Given the description of an element on the screen output the (x, y) to click on. 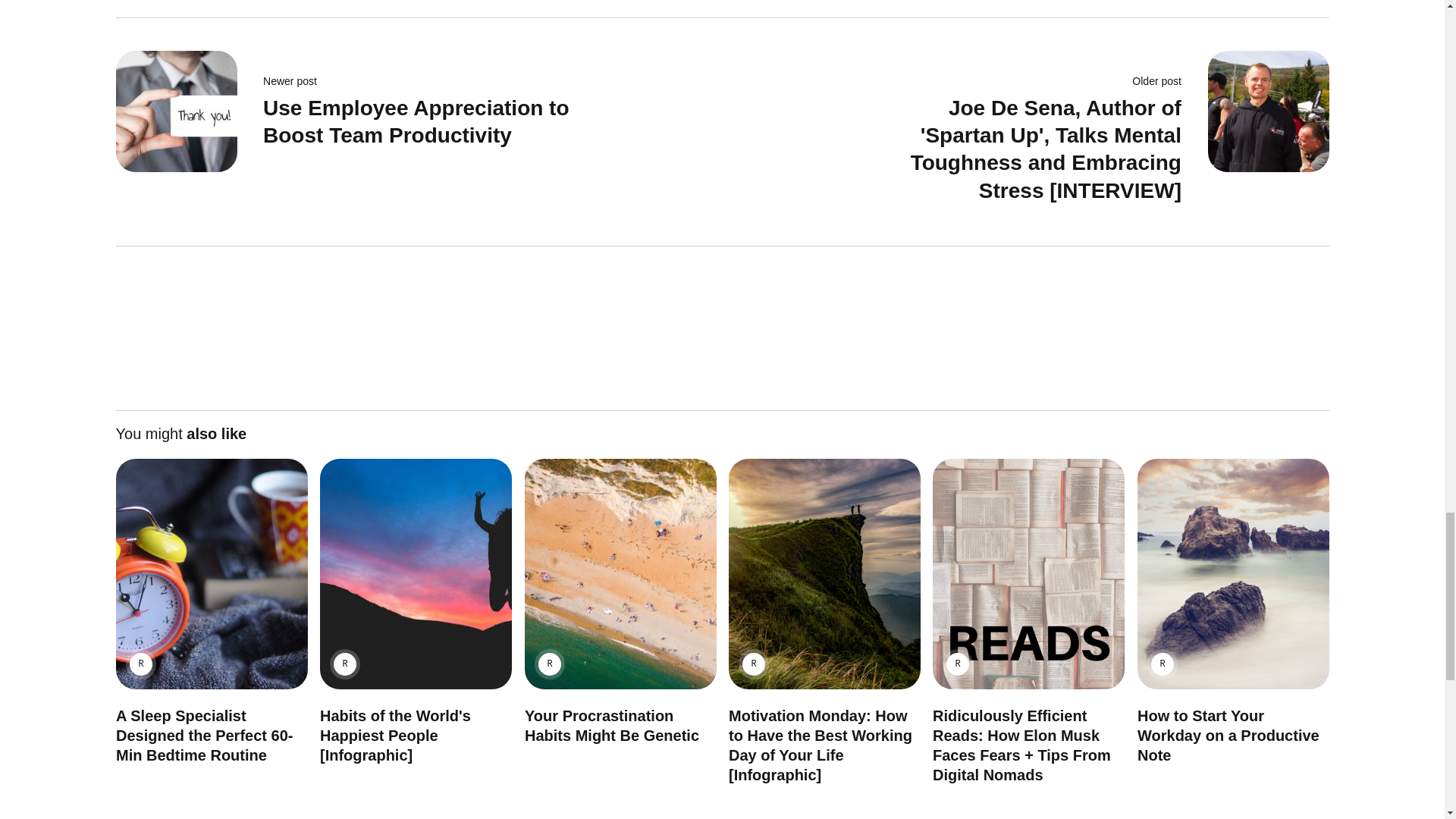
Rosemina Nazarali (752, 663)
Your Procrastination Habits Might Be Genetic (611, 725)
Rosemina Nazarali (344, 663)
Rosemina Nazarali (1161, 663)
Rosemina Nazarali (140, 663)
Rosemina Nazarali (957, 663)
Rosemina Nazarali (548, 663)
How to Start Your Workday on a Productive Note (1228, 735)
